Given the description of an element on the screen output the (x, y) to click on. 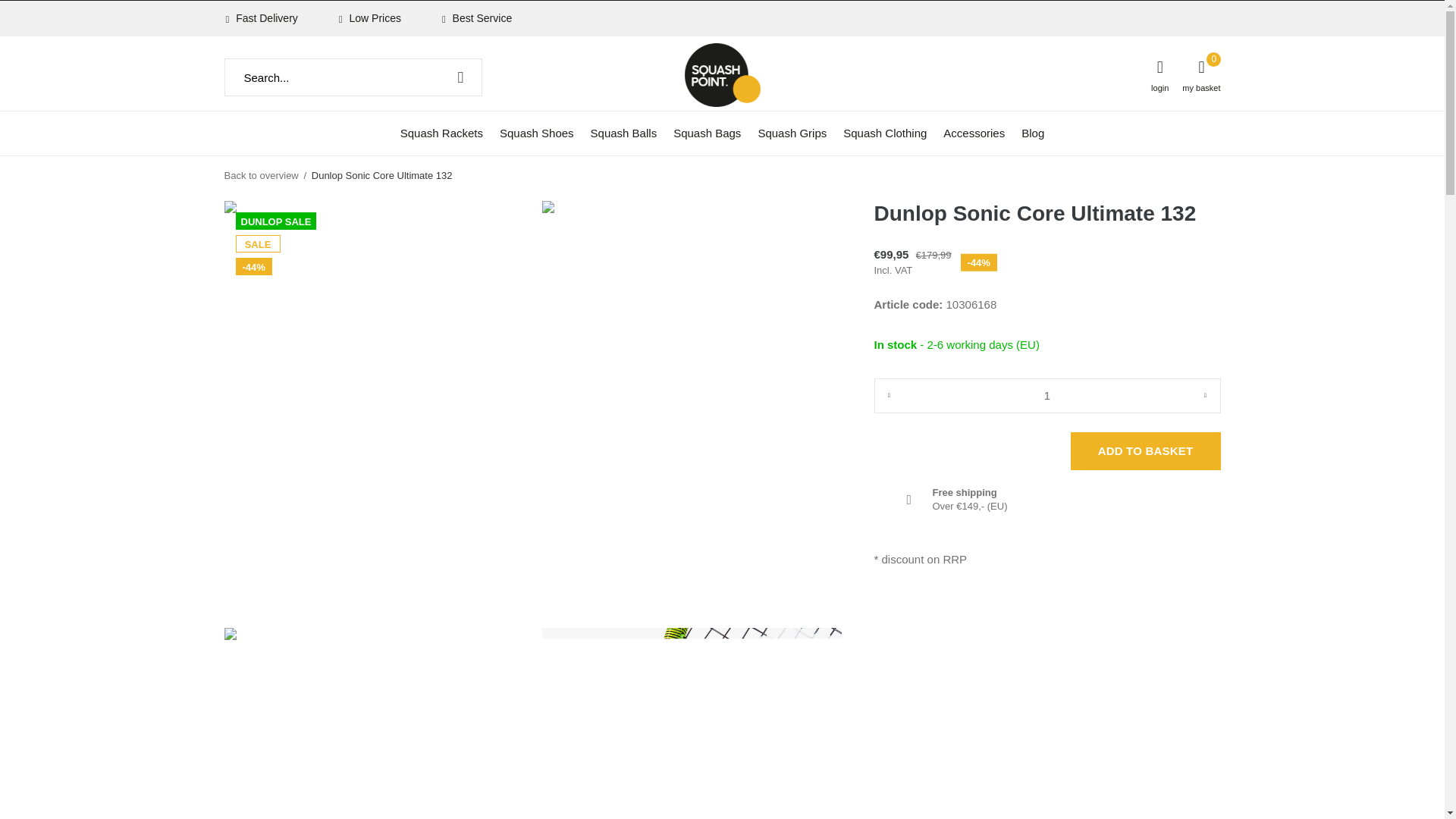
Accessories (973, 132)
Squash Shoes (536, 132)
1 (1046, 395)
Squash Balls (624, 132)
Squash Grips (792, 132)
Squash Bags (706, 132)
Blog (1032, 132)
Squash Rackets (441, 132)
Squash Clothing (884, 132)
